Given the description of an element on the screen output the (x, y) to click on. 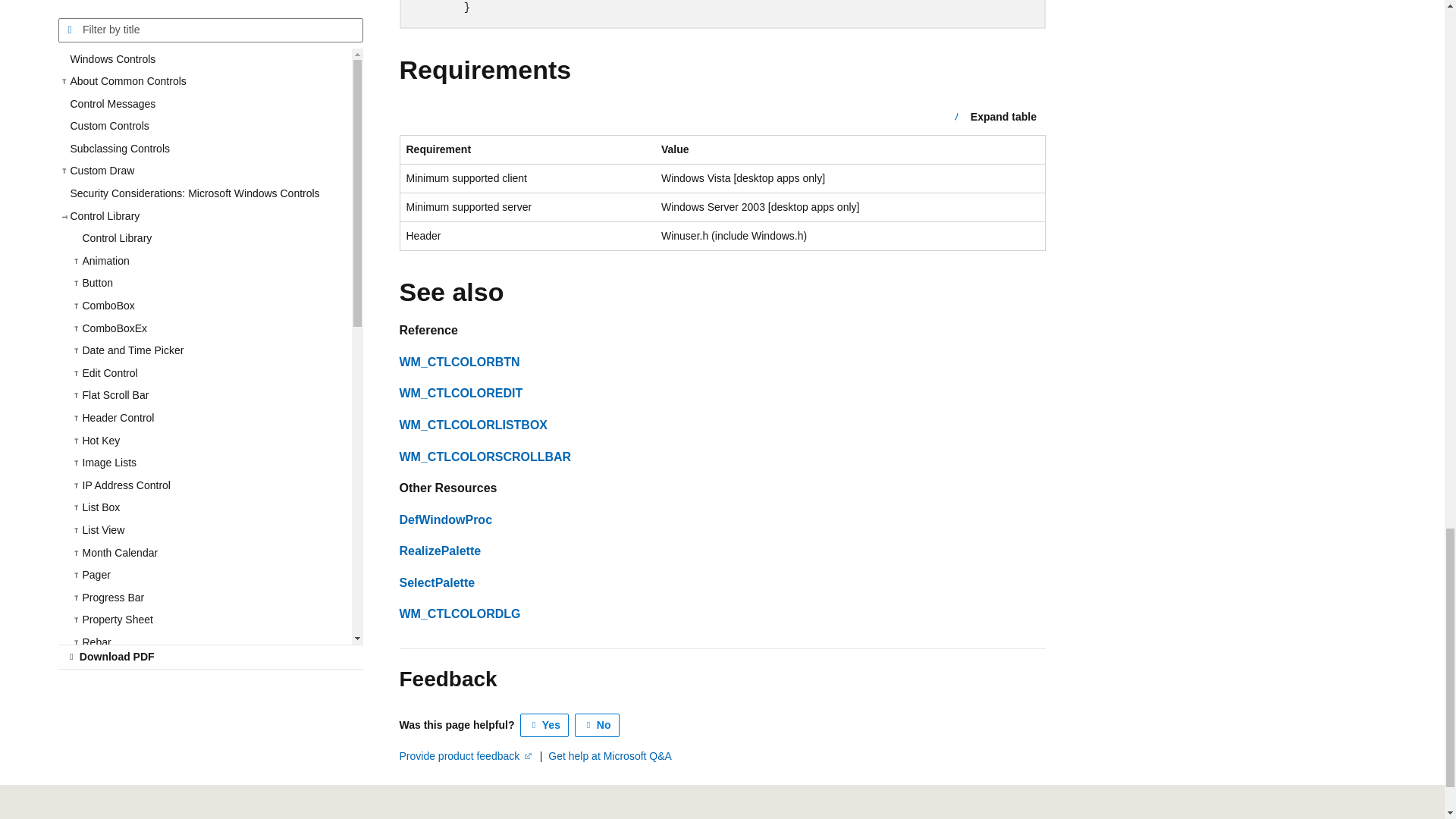
This article is not helpful (597, 725)
This article is helpful (544, 725)
